Given the description of an element on the screen output the (x, y) to click on. 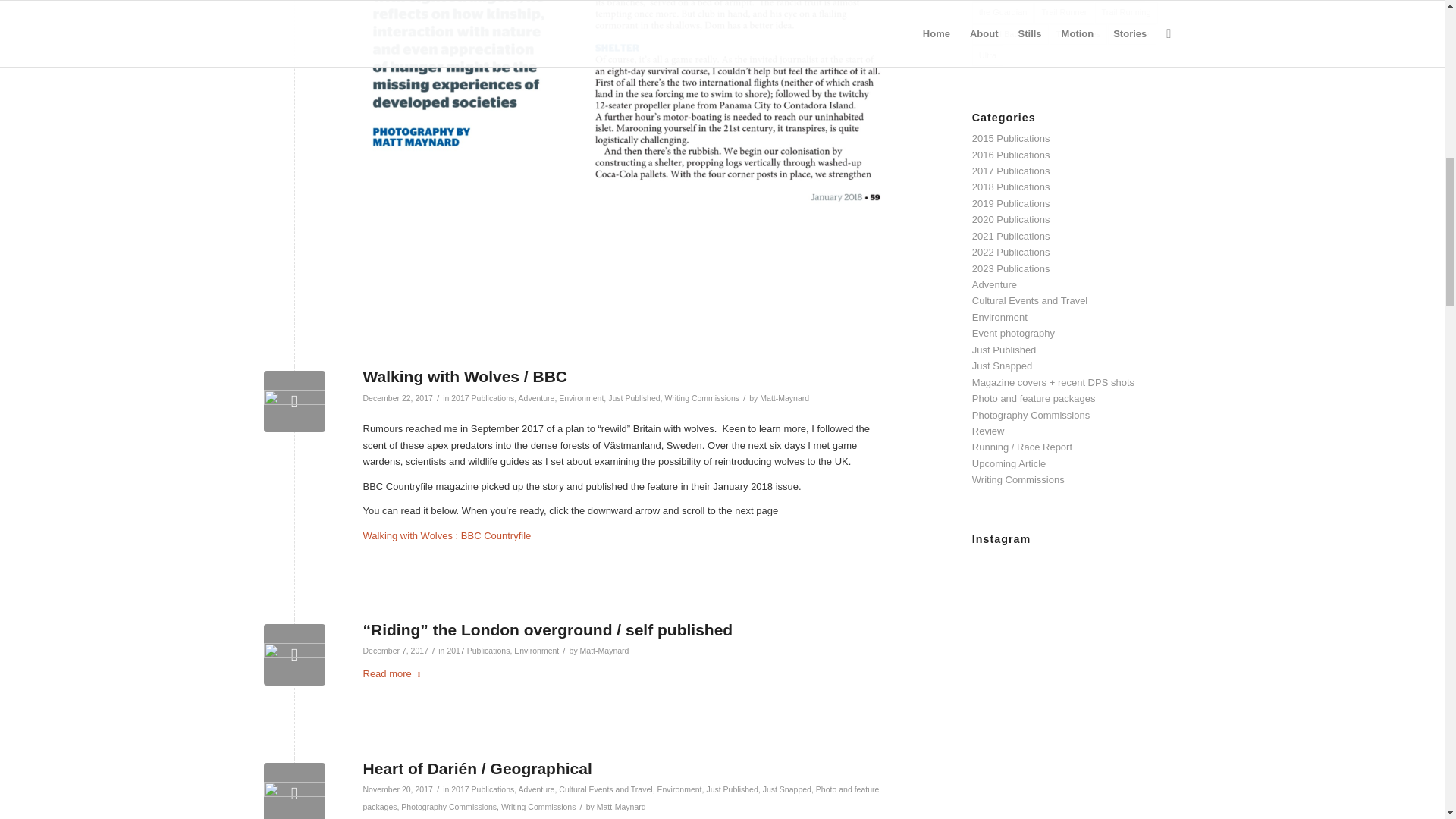
Screen Shot 2017-11-23 at 11.10.40 (293, 401)
2017 Publications (482, 397)
Just Published (633, 397)
Posts by Matt-Maynard (603, 650)
Adventure (536, 397)
Writing Commissions (701, 397)
Screen Shot 2018-05-07 at 15.33.02 (293, 654)
Posts by Matt-Maynard (621, 806)
Environment (581, 397)
Posts by Matt-Maynard (784, 397)
